Given the description of an element on the screen output the (x, y) to click on. 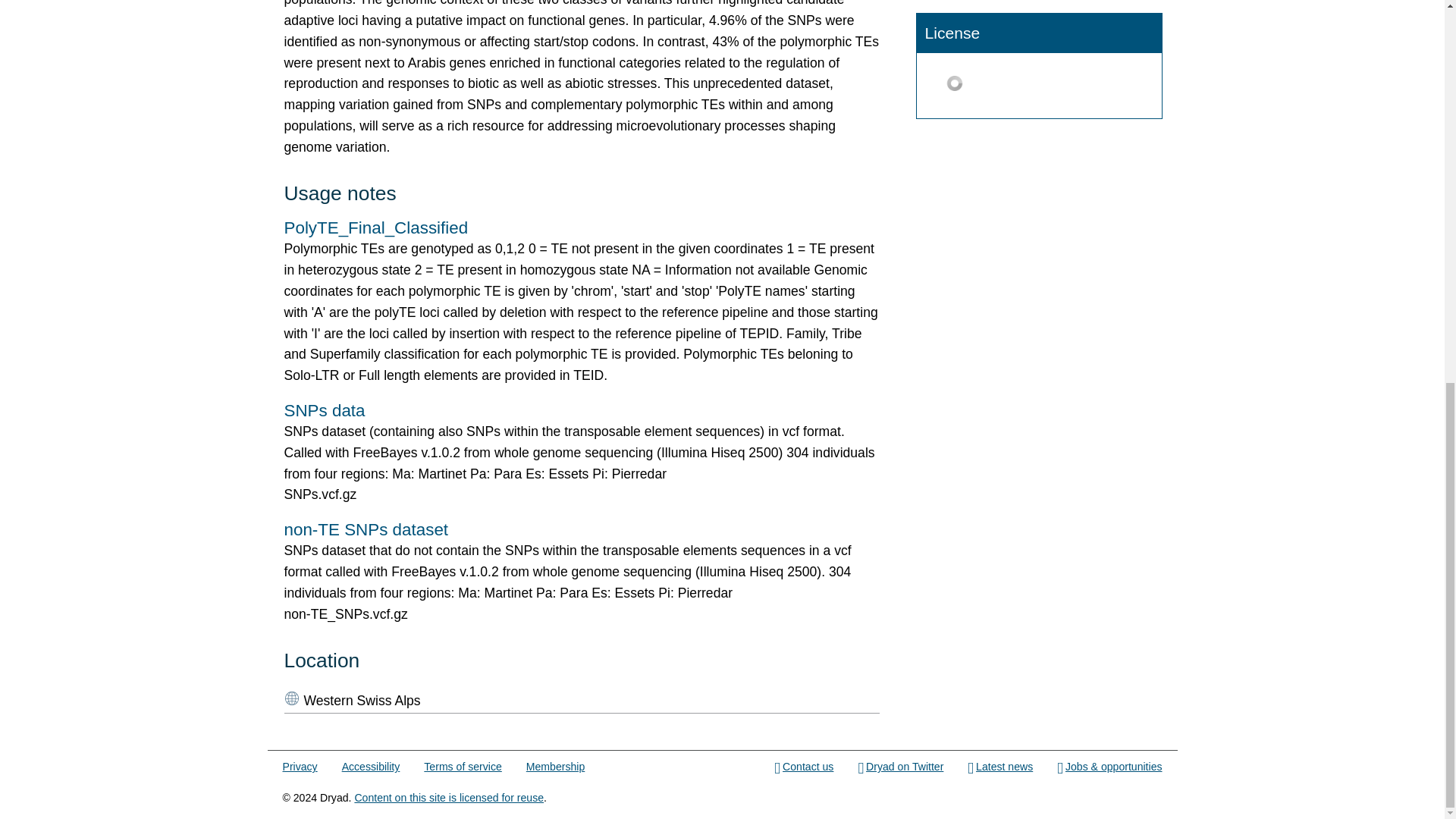
Terms of service (461, 767)
Membership (555, 767)
Privacy (299, 767)
Accessibility (371, 767)
Contact us (803, 767)
